Given the description of an element on the screen output the (x, y) to click on. 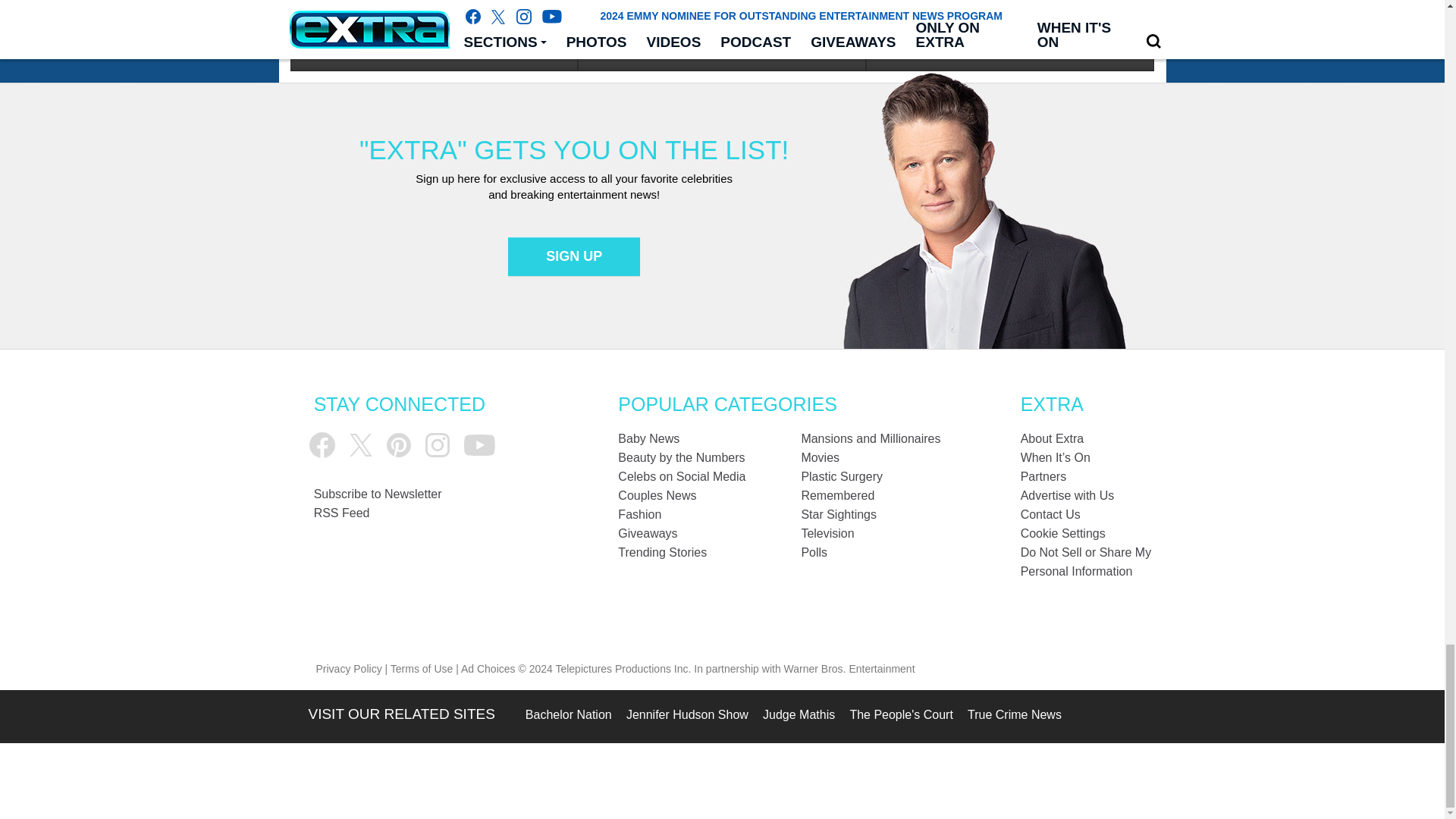
Twitter (360, 445)
Instagram (437, 445)
Facebook (321, 444)
YouTube (479, 445)
Pinterest (398, 445)
